Given the description of an element on the screen output the (x, y) to click on. 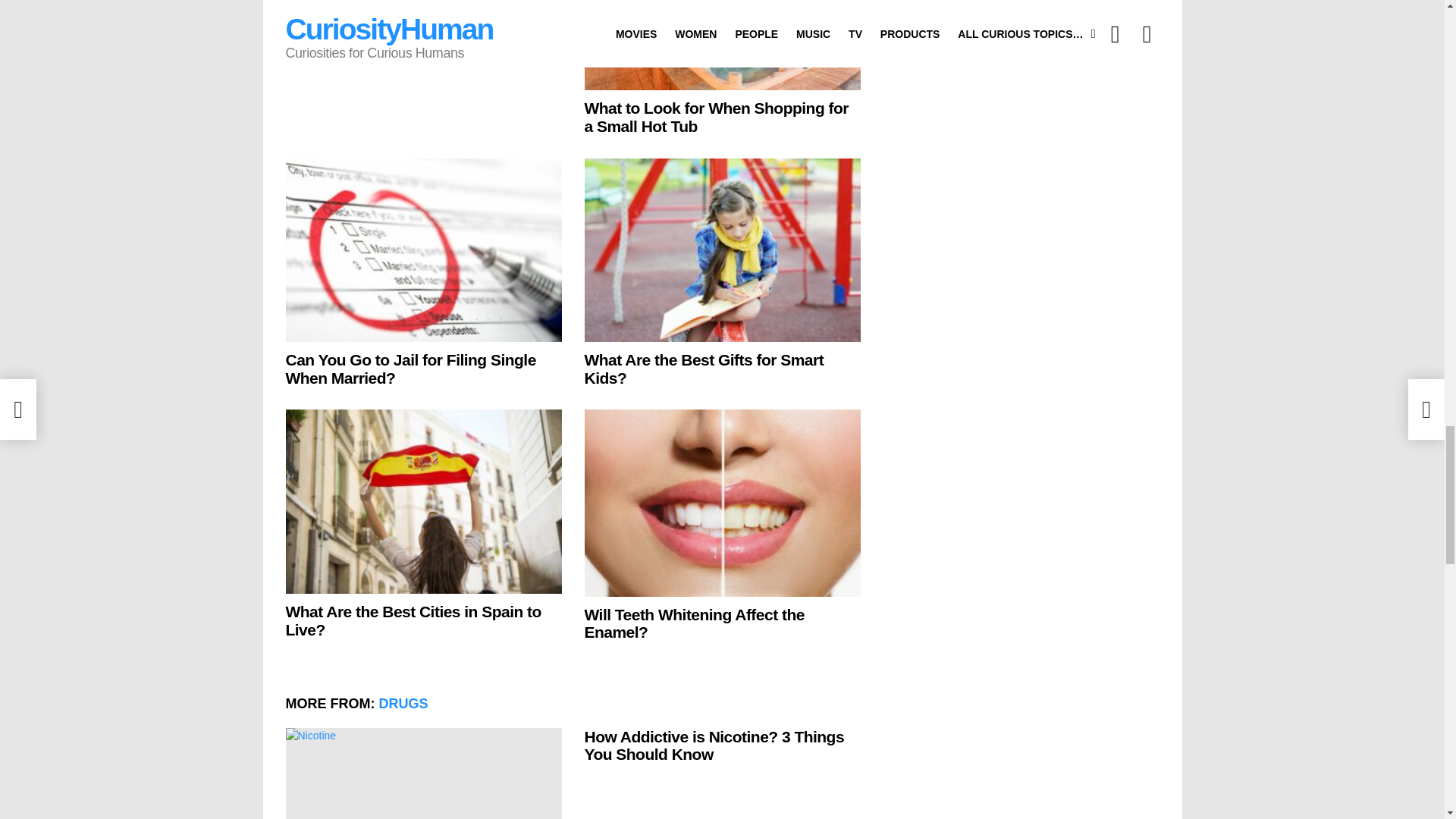
How Addictive is Nicotine? 3 Things You Should Know (422, 773)
What to Look for When Shopping for a Small Hot Tub (721, 45)
What Are the Best Cities in Spain to Live? (422, 501)
Can You Go to Jail for Filing Single When Married? (422, 250)
What Are the Best Gifts for Smart Kids? (721, 250)
Will Teeth Whitening Affect the Enamel? (721, 502)
